Given the description of an element on the screen output the (x, y) to click on. 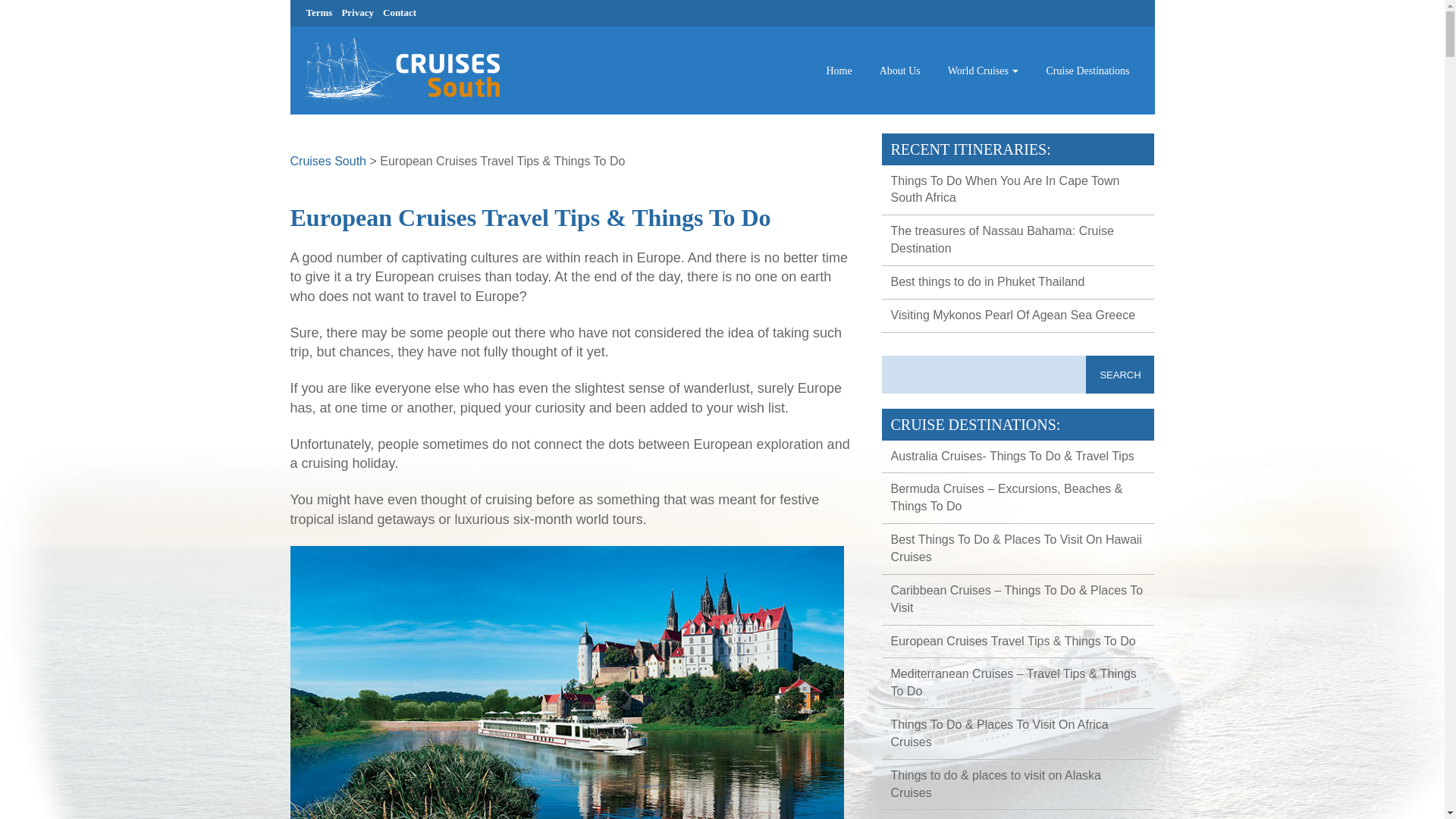
World Cruises (983, 71)
Cruise Destinations (1087, 71)
Home (839, 71)
Contact (399, 12)
Cruise Destinations (1087, 71)
About Us (900, 71)
Home (839, 71)
Terms (319, 12)
Cruises South (327, 160)
About Us (900, 71)
World Cruises (983, 71)
Search (1120, 374)
Privacy (357, 12)
